Given the description of an element on the screen output the (x, y) to click on. 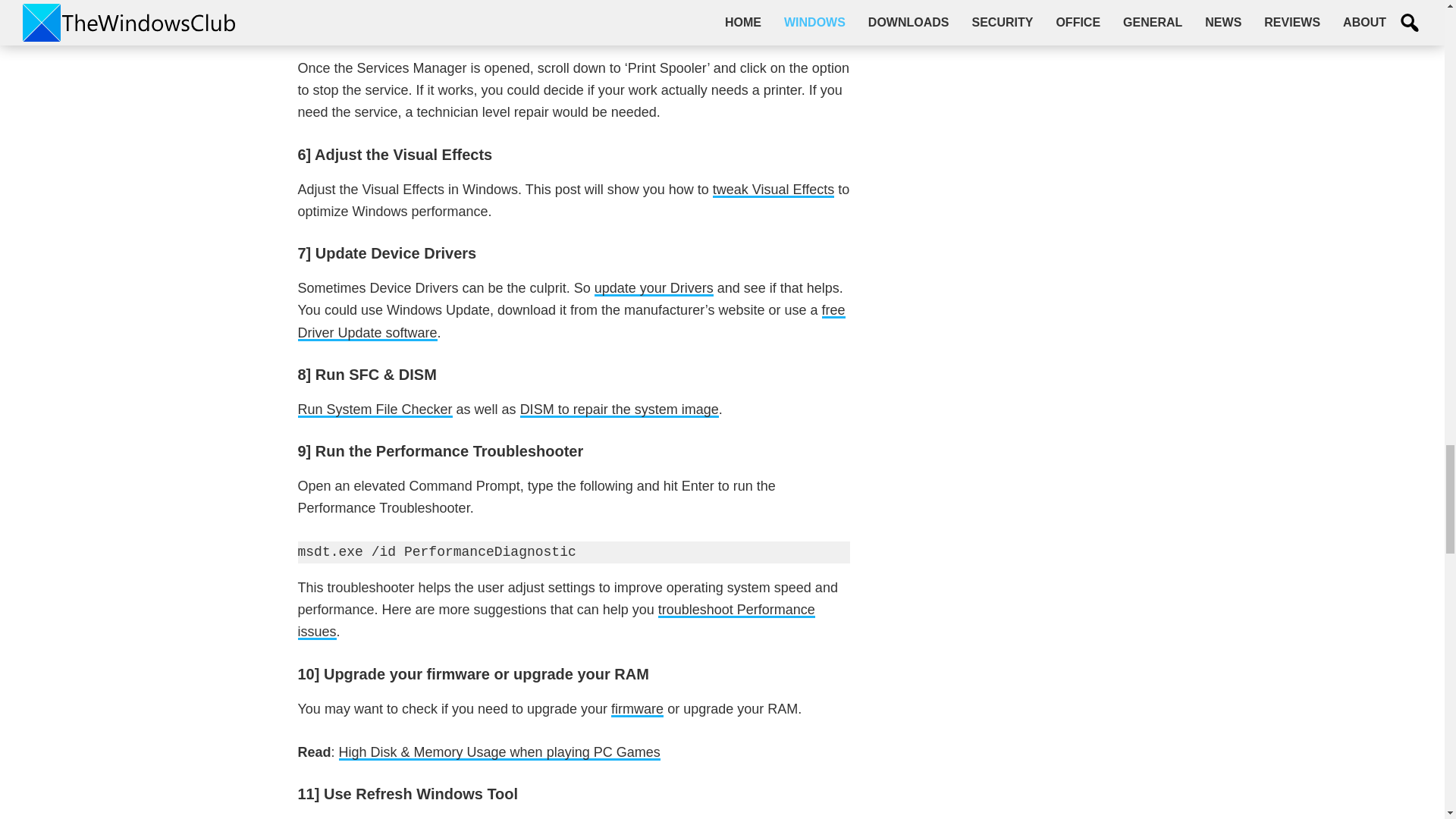
free Driver Update software (570, 321)
Run System File Checker (374, 409)
firmware (637, 708)
update your Drivers (653, 288)
tweak Visual Effects (773, 189)
DISM to repair the system image (619, 409)
troubleshoot Performance issues (555, 620)
